Given the description of an element on the screen output the (x, y) to click on. 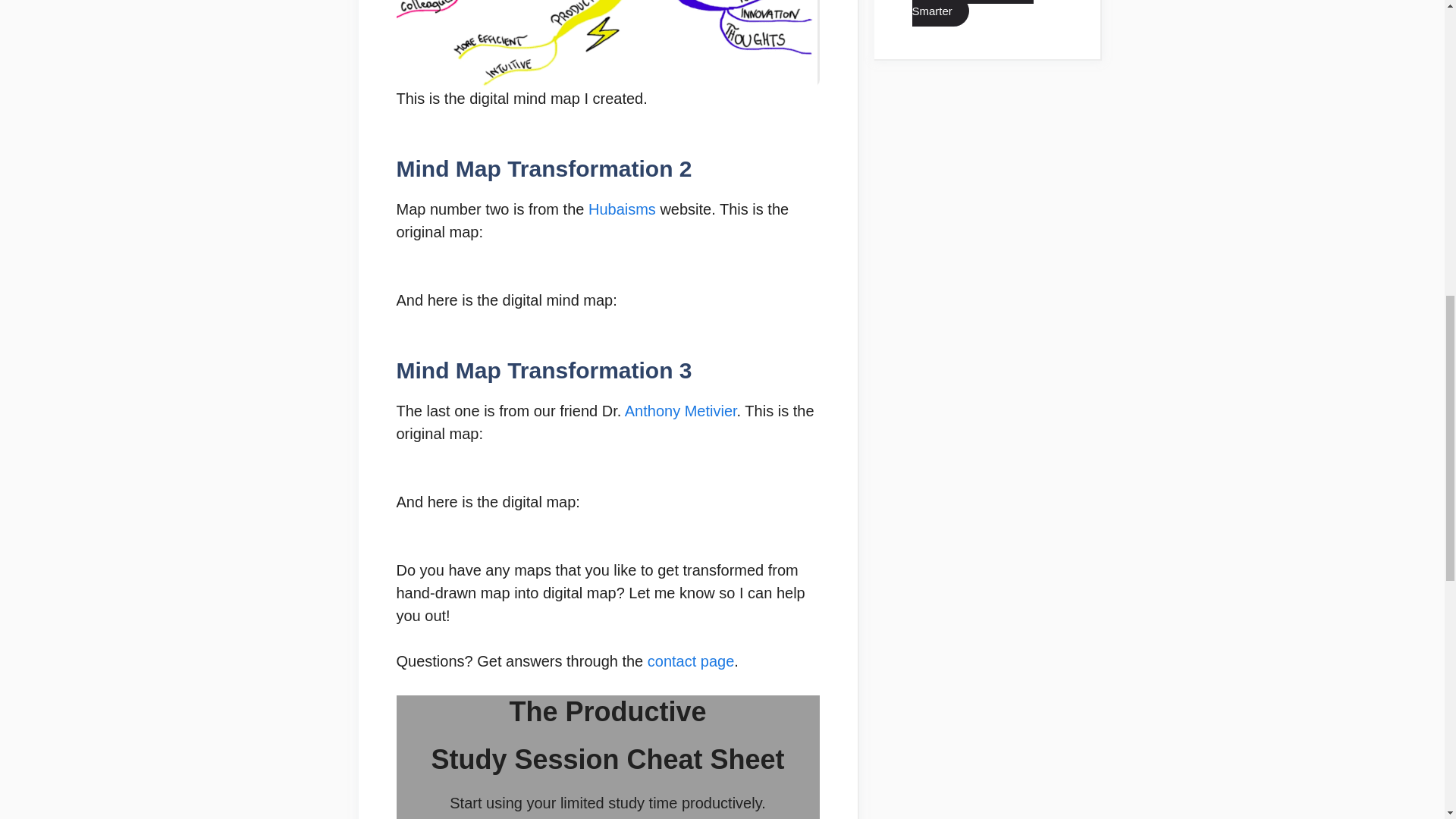
Learn To Summarize Smarter (971, 13)
Anthony Metivier (680, 410)
contact page (691, 660)
Hubaisms (622, 208)
